Given the description of an element on the screen output the (x, y) to click on. 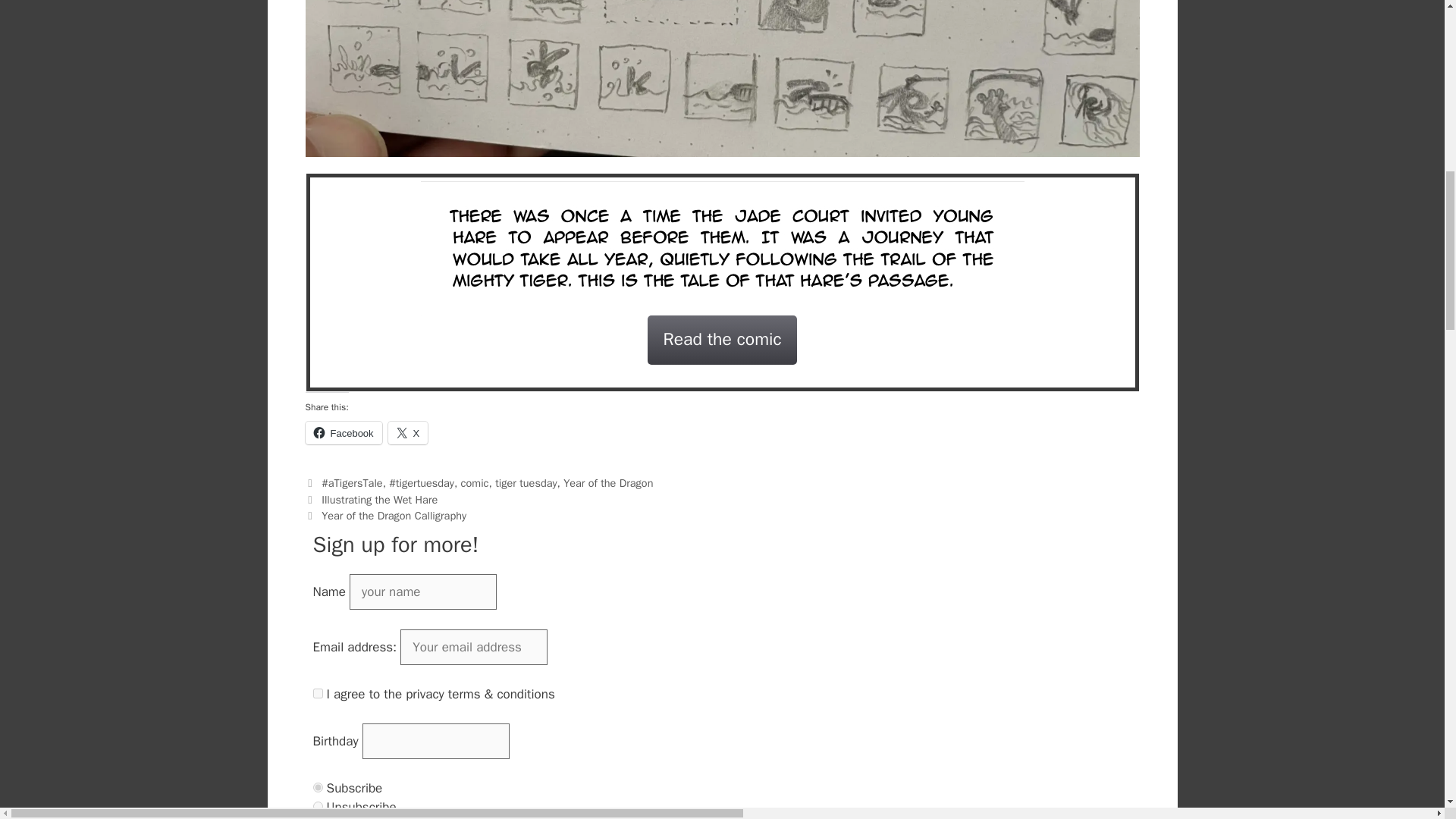
subscribe (317, 787)
Click to share on X (408, 432)
unsubscribe (317, 806)
Illustrating the Wet Hare (379, 499)
Click to share on Facebook (342, 432)
Next (384, 515)
comic (475, 482)
Previous (371, 499)
Read the comic (721, 339)
tiger tuesday (525, 482)
Year of the Dragon (607, 482)
1 (317, 693)
Facebook (342, 432)
Year of the Dragon Calligraphy (393, 515)
X (408, 432)
